Given the description of an element on the screen output the (x, y) to click on. 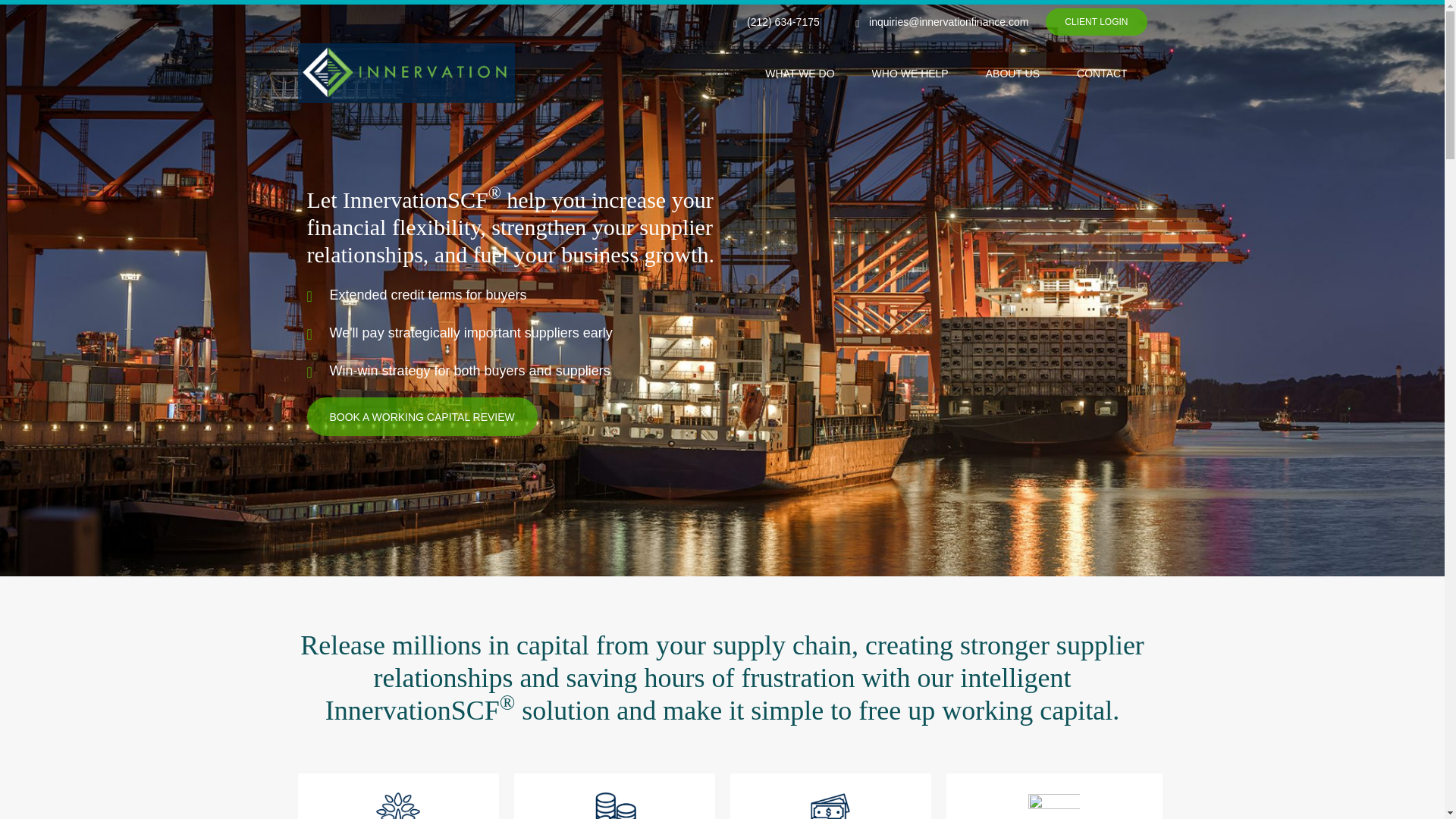
WHO WE HELP (910, 72)
ABOUT US (1013, 72)
CLIENT LOGIN (1096, 22)
CONTACT (1101, 72)
WHAT WE DO (799, 72)
